Given the description of an element on the screen output the (x, y) to click on. 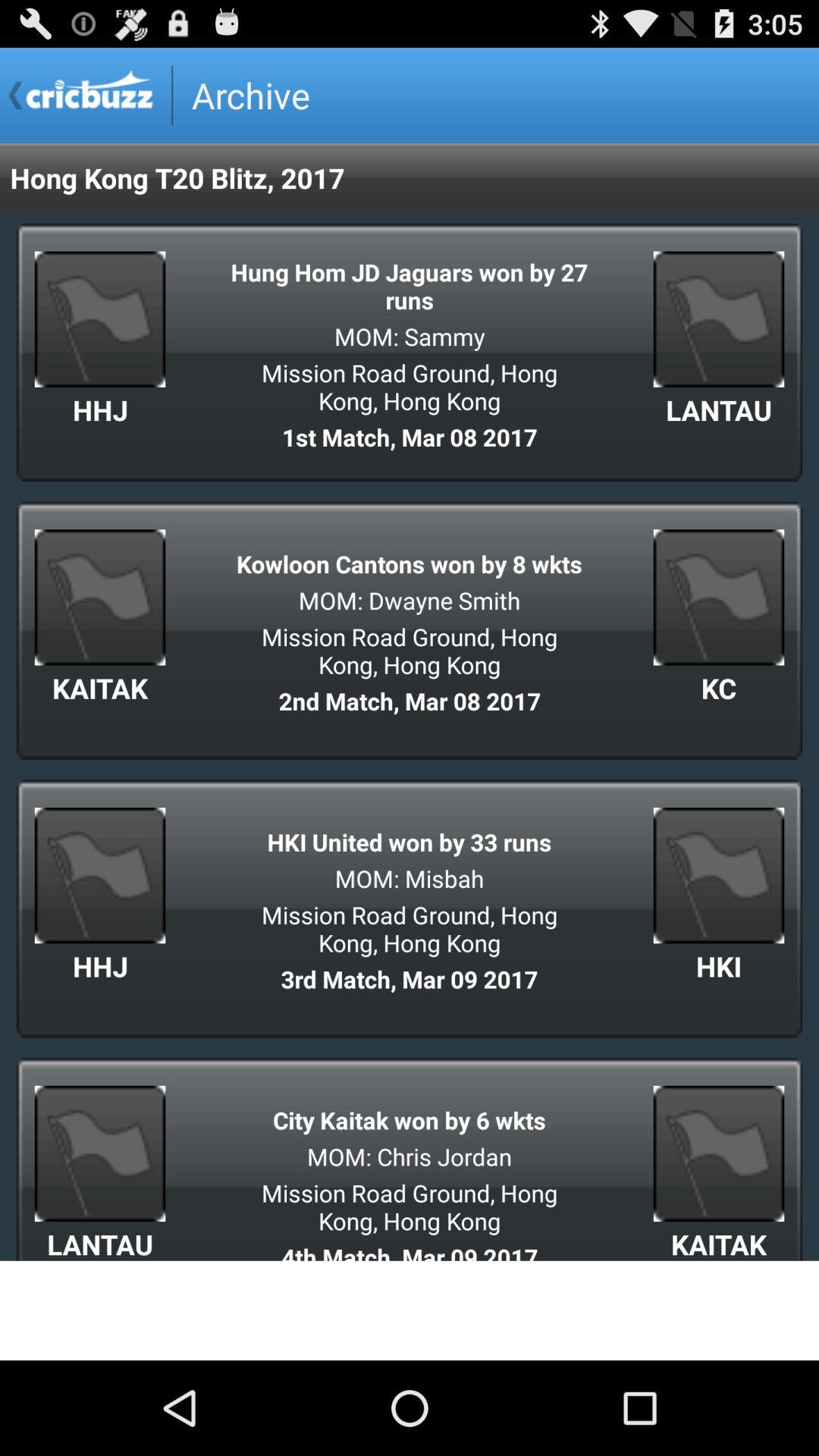
tap item above the mom: sammy icon (409, 285)
